Given the description of an element on the screen output the (x, y) to click on. 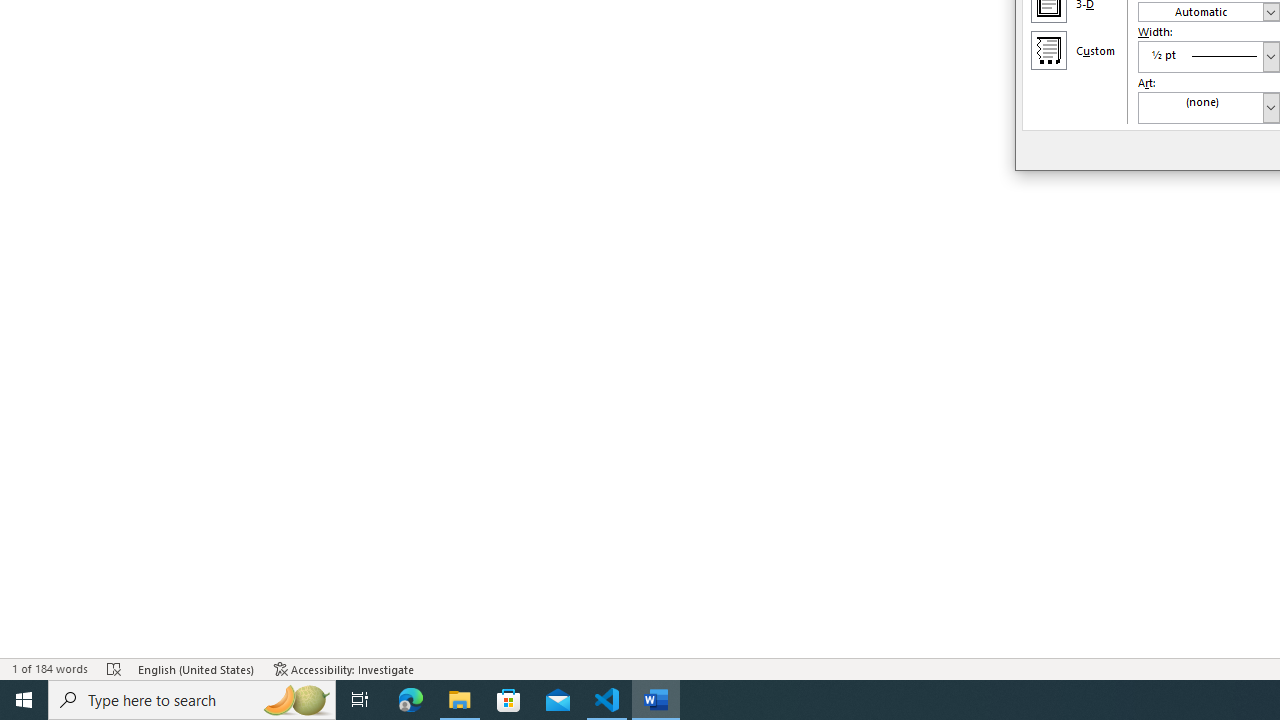
Custom (1048, 49)
Spelling and Grammar Check Errors (114, 668)
Task View (359, 699)
Type here to search (191, 699)
Microsoft Edge (411, 699)
Search highlights icon opens search home window (295, 699)
Visual Studio Code - 1 running window (607, 699)
Start (24, 699)
Accessibility Checker Accessibility: Investigate (344, 668)
File Explorer - 1 running window (460, 699)
Microsoft Store (509, 699)
Language English (United States) (196, 668)
Word Count 1 of 184 words (49, 668)
Word - 1 running window (656, 699)
